Given the description of an element on the screen output the (x, y) to click on. 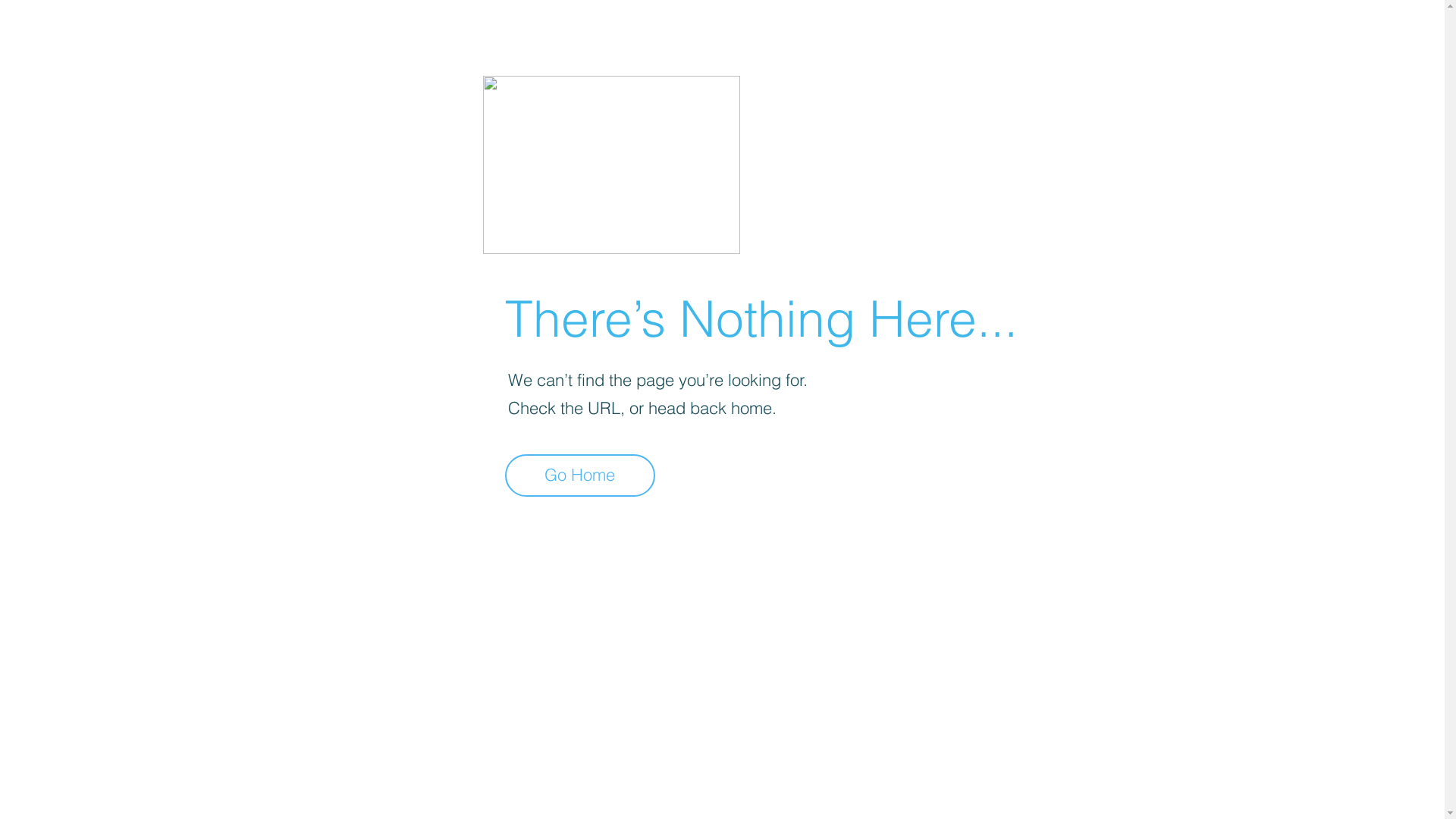
404-icon_2.png Element type: hover (610, 164)
Go Home Element type: text (580, 475)
